Given the description of an element on the screen output the (x, y) to click on. 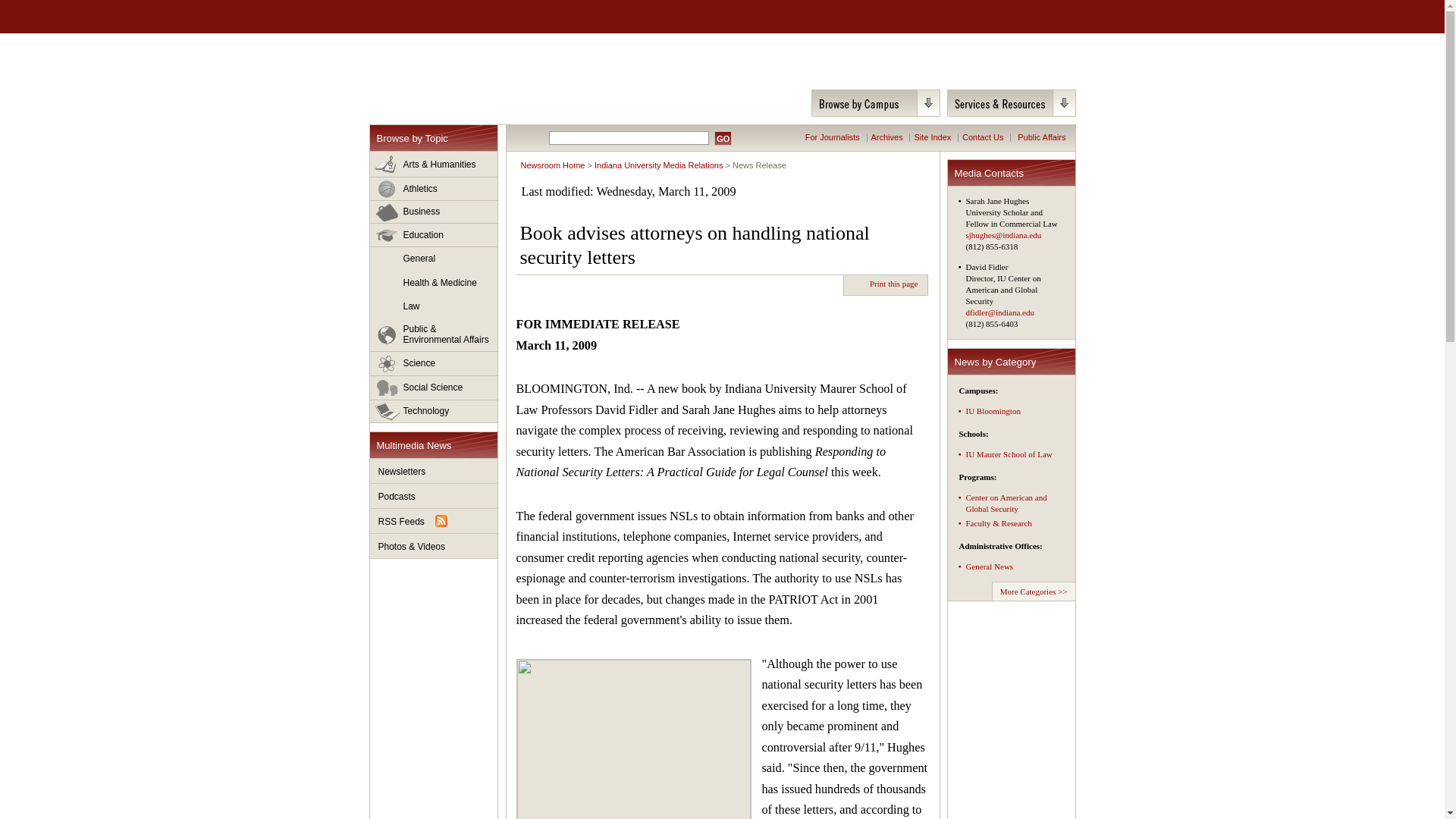
General (433, 259)
Indiana University (448, 16)
RSS Feeds (433, 520)
IU News Room (455, 69)
Podcasts (433, 496)
General (433, 259)
Technology (433, 411)
Business (433, 211)
IU News Room (455, 69)
Newsletters (433, 471)
Education (433, 235)
Athletics (433, 188)
Law (433, 306)
Education (433, 235)
Business (433, 211)
